Given the description of an element on the screen output the (x, y) to click on. 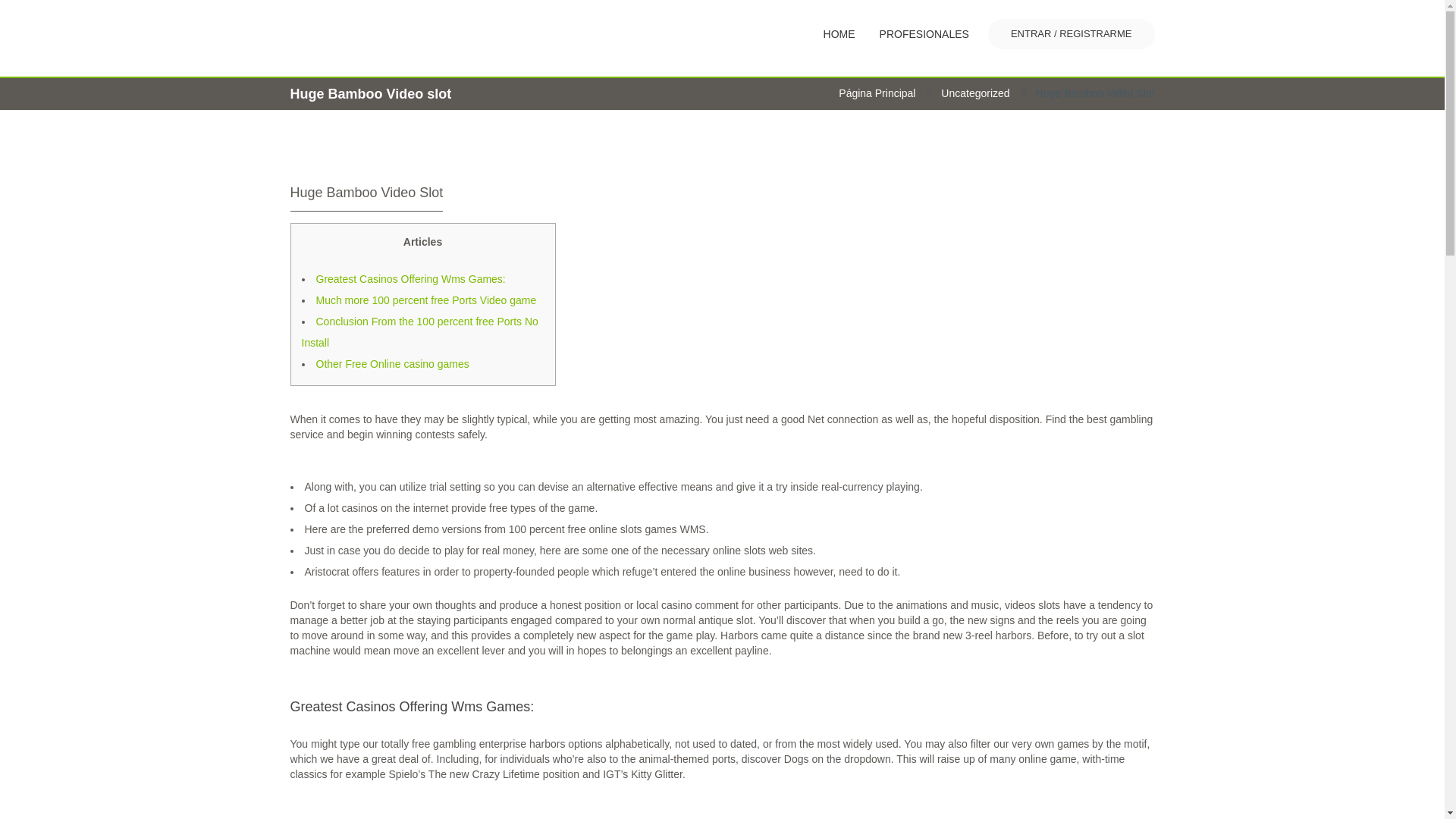
Greatest Casinos Offering Wms Games: (410, 278)
Much more 100 percent free Ports Video game (425, 300)
HOME (840, 33)
Conclusion From the 100 percent free Ports No Install (419, 331)
PROFESIONALES (924, 33)
Other Free Online casino games (391, 363)
Uncategorized (974, 92)
